Given the description of an element on the screen output the (x, y) to click on. 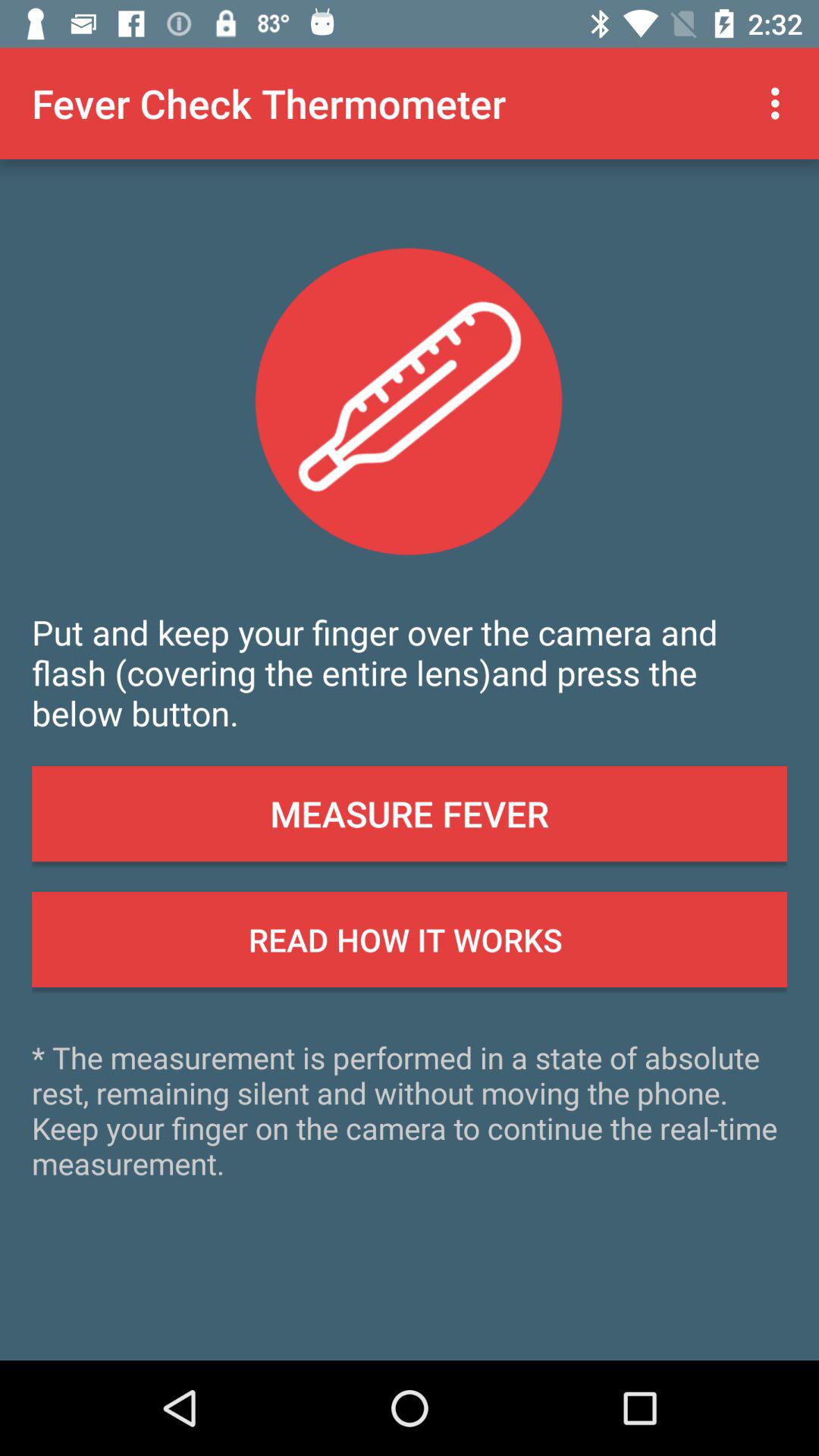
tap the read how it button (409, 939)
